Given the description of an element on the screen output the (x, y) to click on. 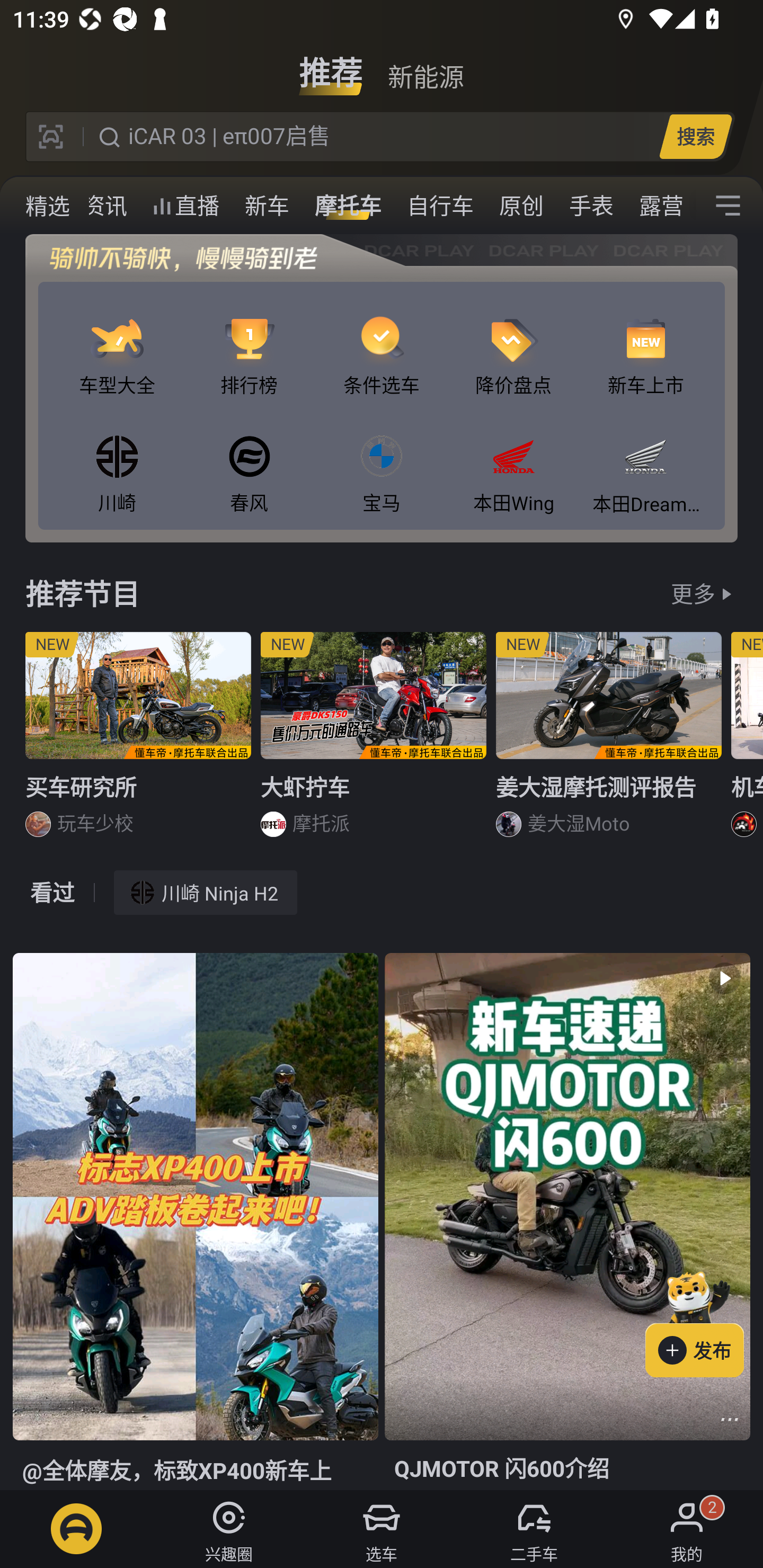
推荐 (330, 65)
新能源 (425, 65)
搜索 (695, 136)
资讯 (104, 205)
直播 (185, 205)
新车 (266, 205)
摩托车 (348, 205)
自行车 (440, 205)
原创 (521, 205)
手表 (591, 205)
露营 (660, 205)
 (727, 205)
精选 (47, 206)
车型大全 (117, 340)
排行榜 (249, 340)
条件选车 (381, 340)
降价盘点 (513, 340)
新车上市 (645, 340)
川崎 (117, 458)
春风 (249, 458)
宝马 (381, 458)
本田Wing (513, 458)
本田DreamWing (645, 458)
更多 (692, 593)
NEW 买车研究所 玩车少校 (138, 741)
NEW 大虾拧车 摩托派 (373, 741)
NEW 姜大湿摩托测评报告 姜大湿Moto (608, 741)
川崎 Ninja H2 (205, 892)
@全体摩友，标致XP400新车上市，试驾体验抢先看！ (195, 1221)
  QJMOTOR 闪600介绍 (567, 1221)
发布 (704, 1320)
 (729, 1419)
 兴趣圈 (228, 1528)
 选车 (381, 1528)
 二手车 (533, 1528)
 我的 (686, 1528)
